Given the description of an element on the screen output the (x, y) to click on. 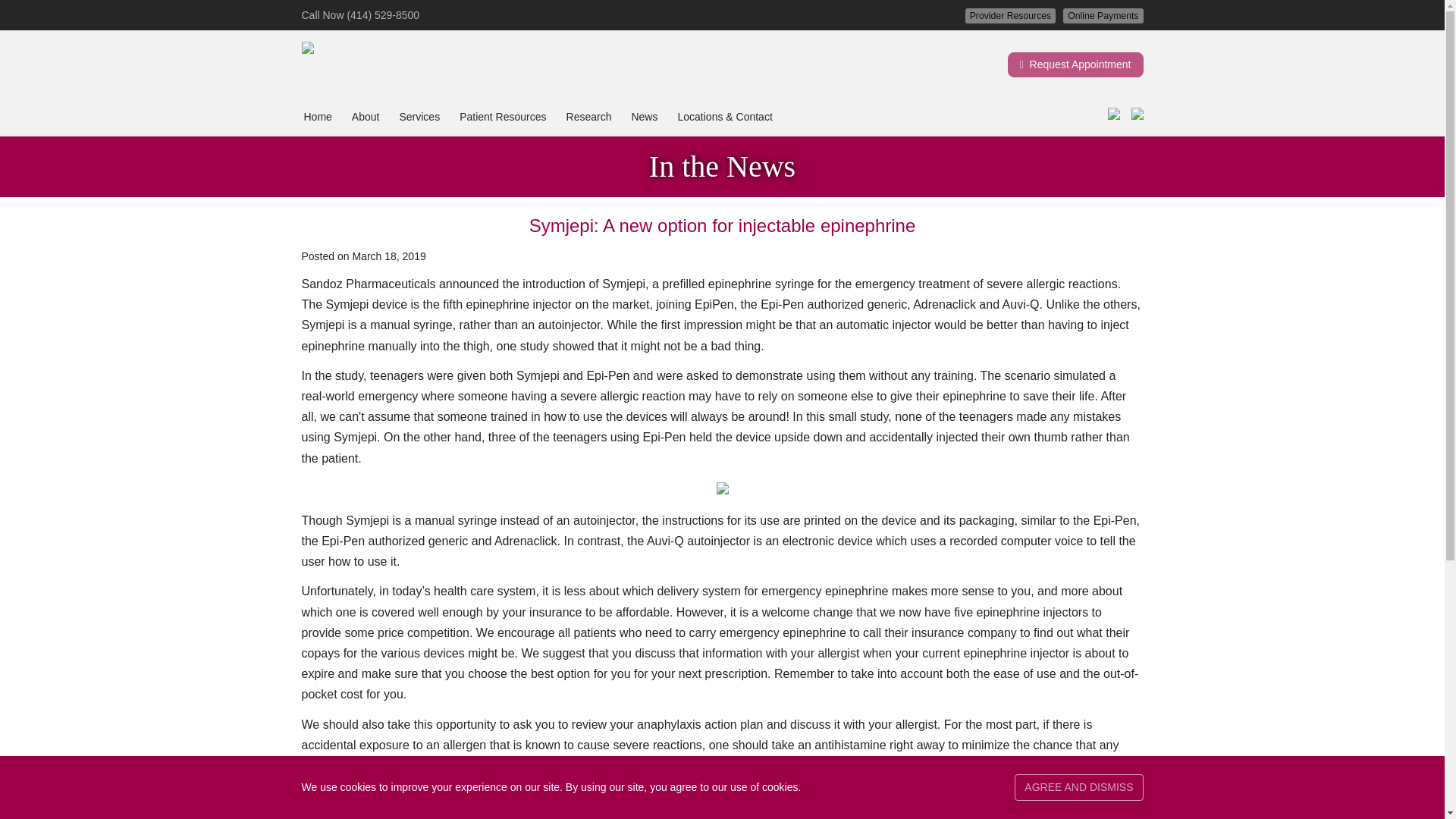
  Request Appointment (1074, 63)
Provider Resources (1011, 15)
Research (588, 117)
Home (317, 117)
AGREE AND DISMISS (1078, 786)
Services (419, 117)
About (365, 117)
News (643, 117)
Patient Resources (501, 117)
Online Payments (1102, 15)
